Given the description of an element on the screen output the (x, y) to click on. 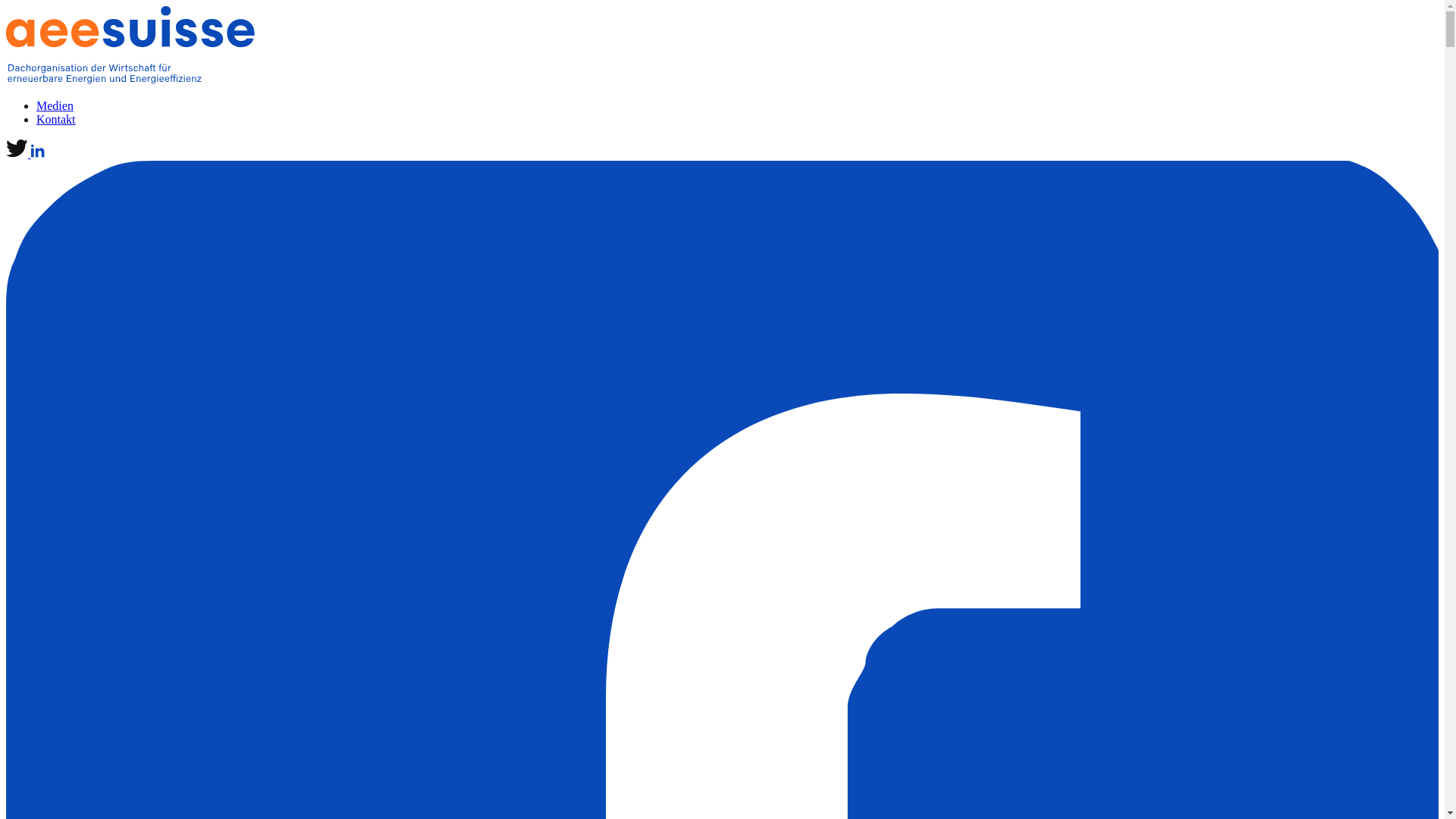
Medien Element type: text (54, 105)
logo-twitter Element type: text (18, 153)
Kontakt Element type: text (55, 118)
